Given the description of an element on the screen output the (x, y) to click on. 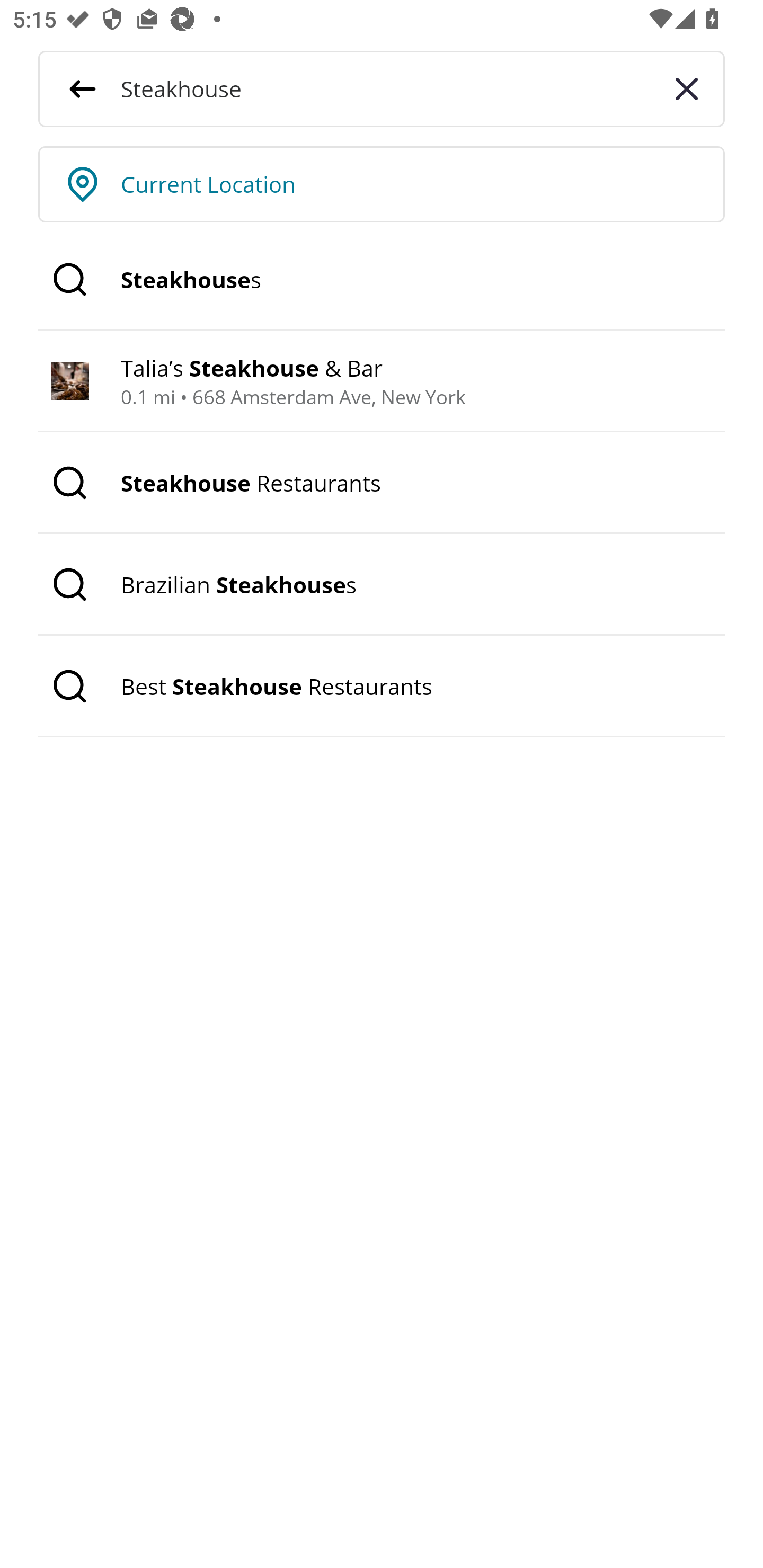
Steakhouses (381, 279)
